Given the description of an element on the screen output the (x, y) to click on. 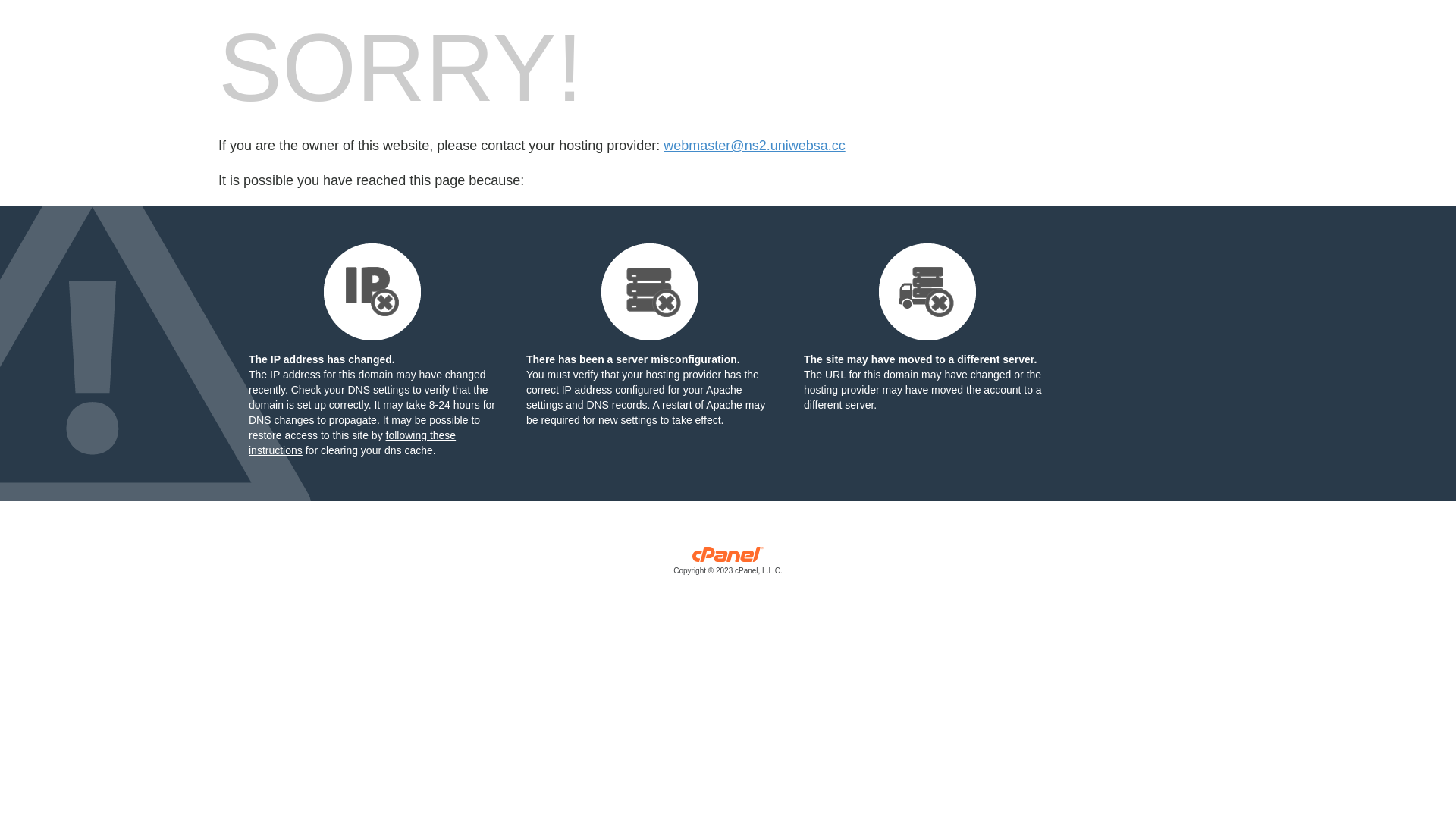
following these instructions Element type: text (351, 442)
webmaster@ns2.uniwebsa.cc Element type: text (753, 145)
